Given the description of an element on the screen output the (x, y) to click on. 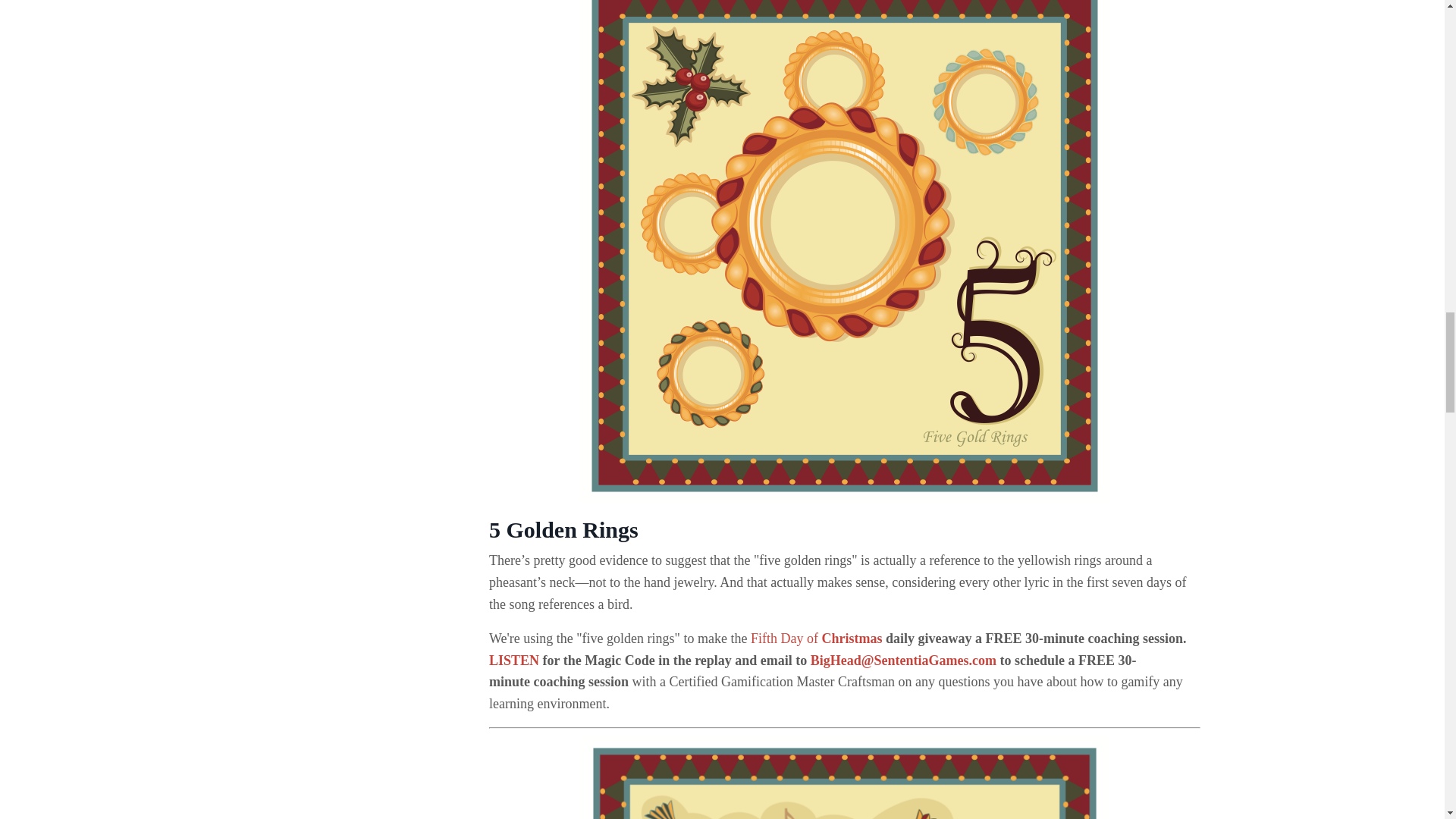
Fifth Day of Christmas (816, 638)
LISTEN (513, 660)
Fifth Day of Christmas (816, 638)
LISTEN (513, 660)
